Given the description of an element on the screen output the (x, y) to click on. 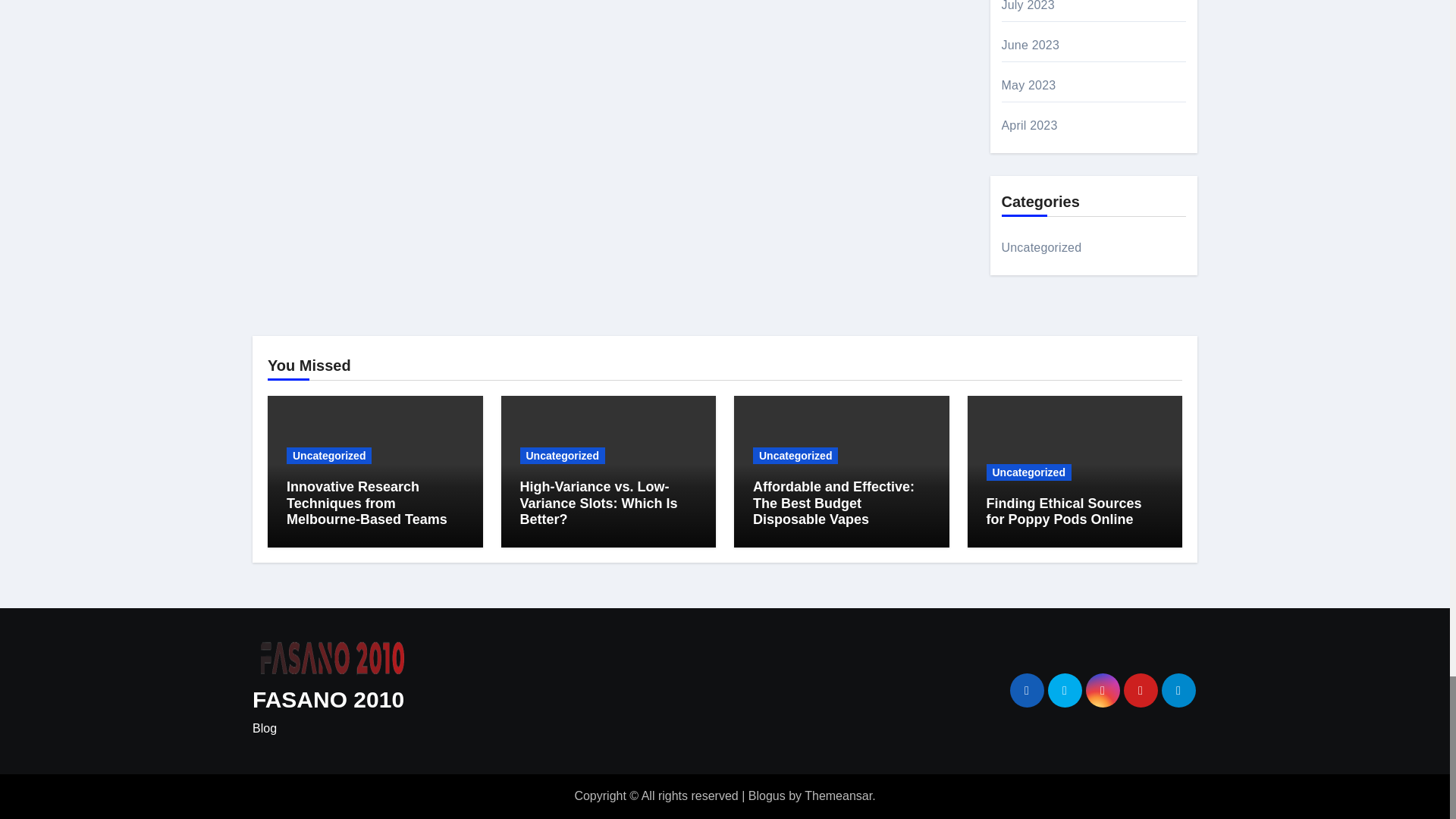
Permalink to: Finding Ethical Sources for Poppy Pods Online (1063, 511)
